Given the description of an element on the screen output the (x, y) to click on. 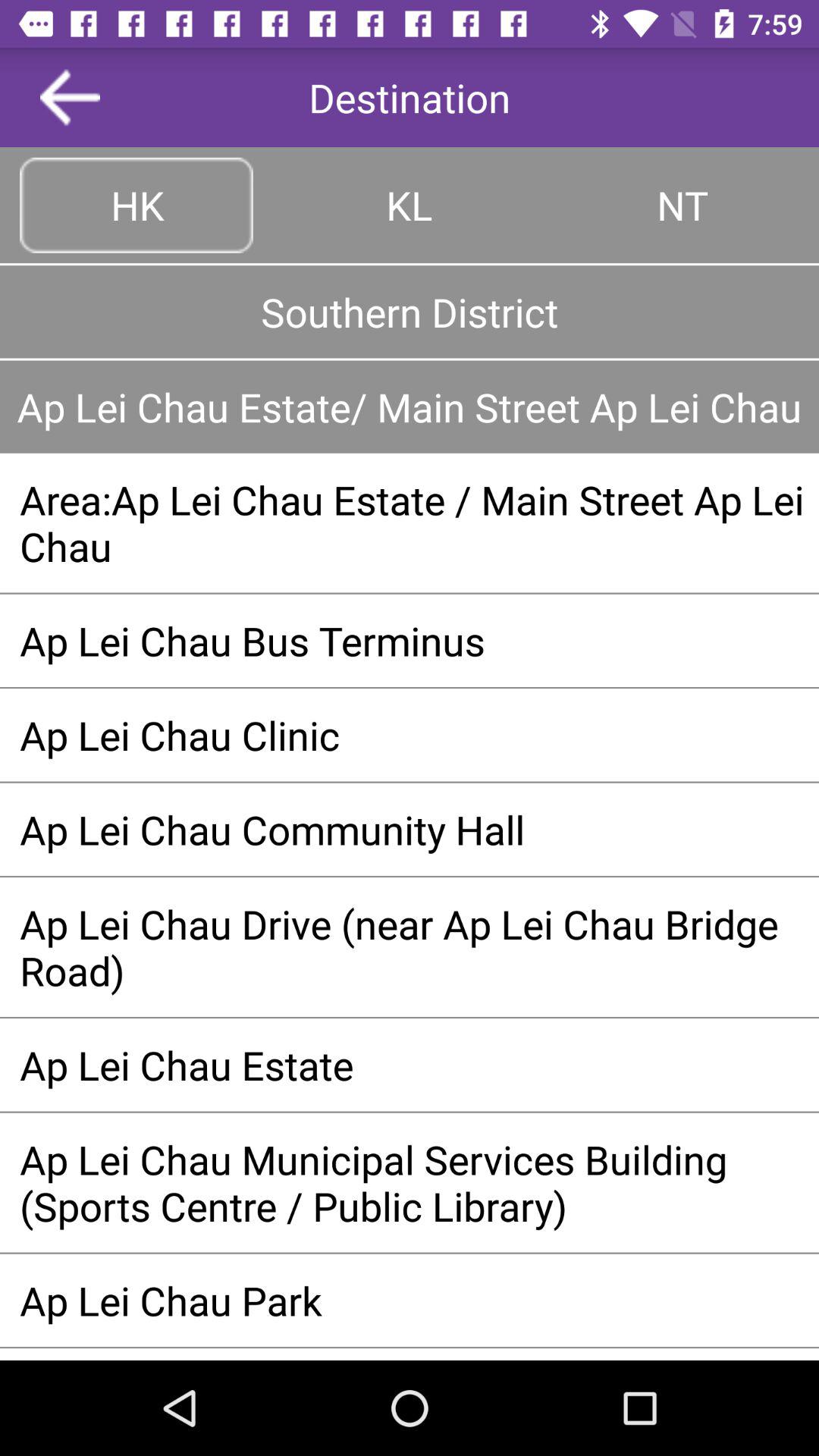
launch the area ap lei (409, 522)
